Given the description of an element on the screen output the (x, y) to click on. 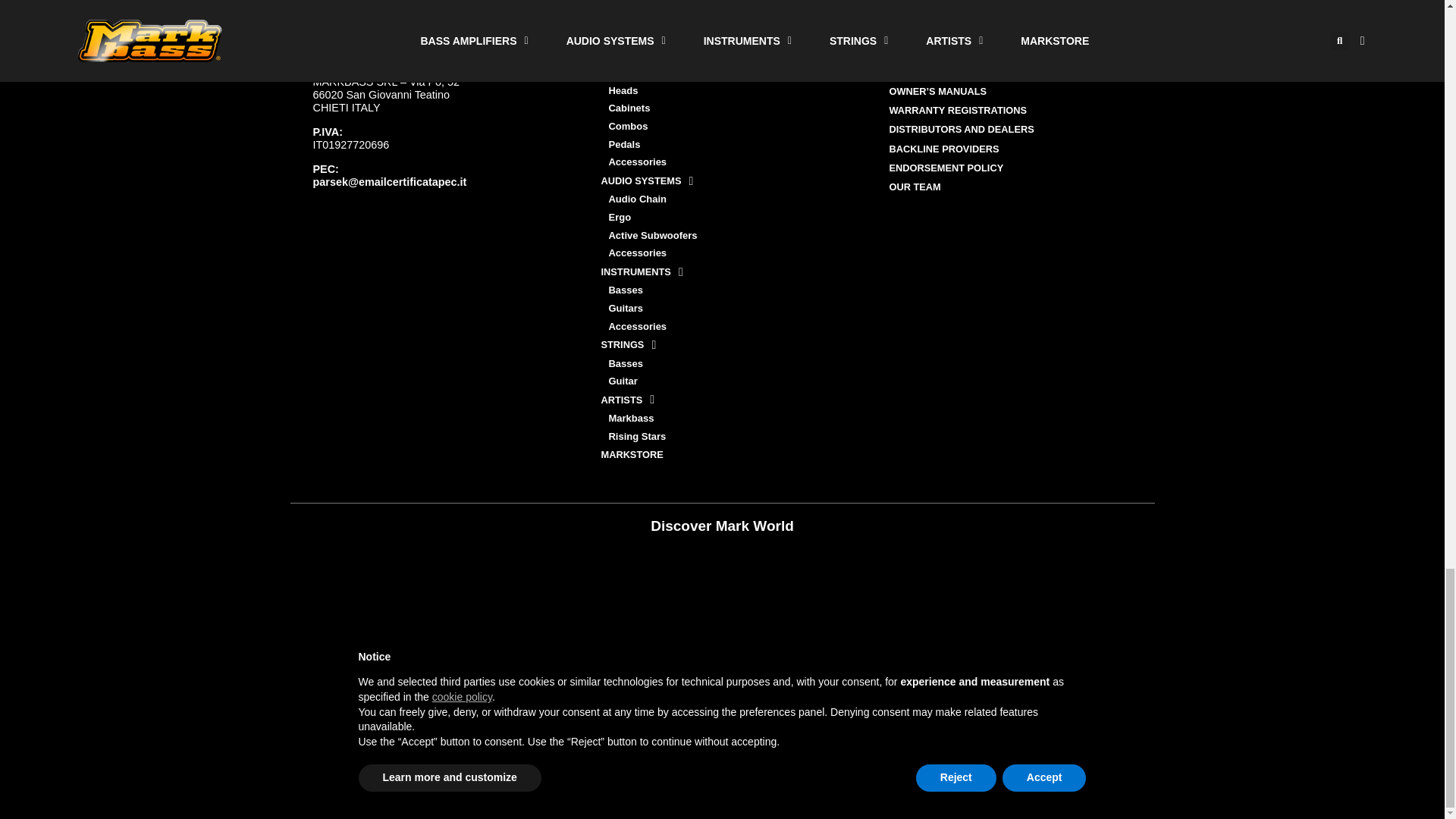
Privacy Policy (41, 809)
